Given the description of an element on the screen output the (x, y) to click on. 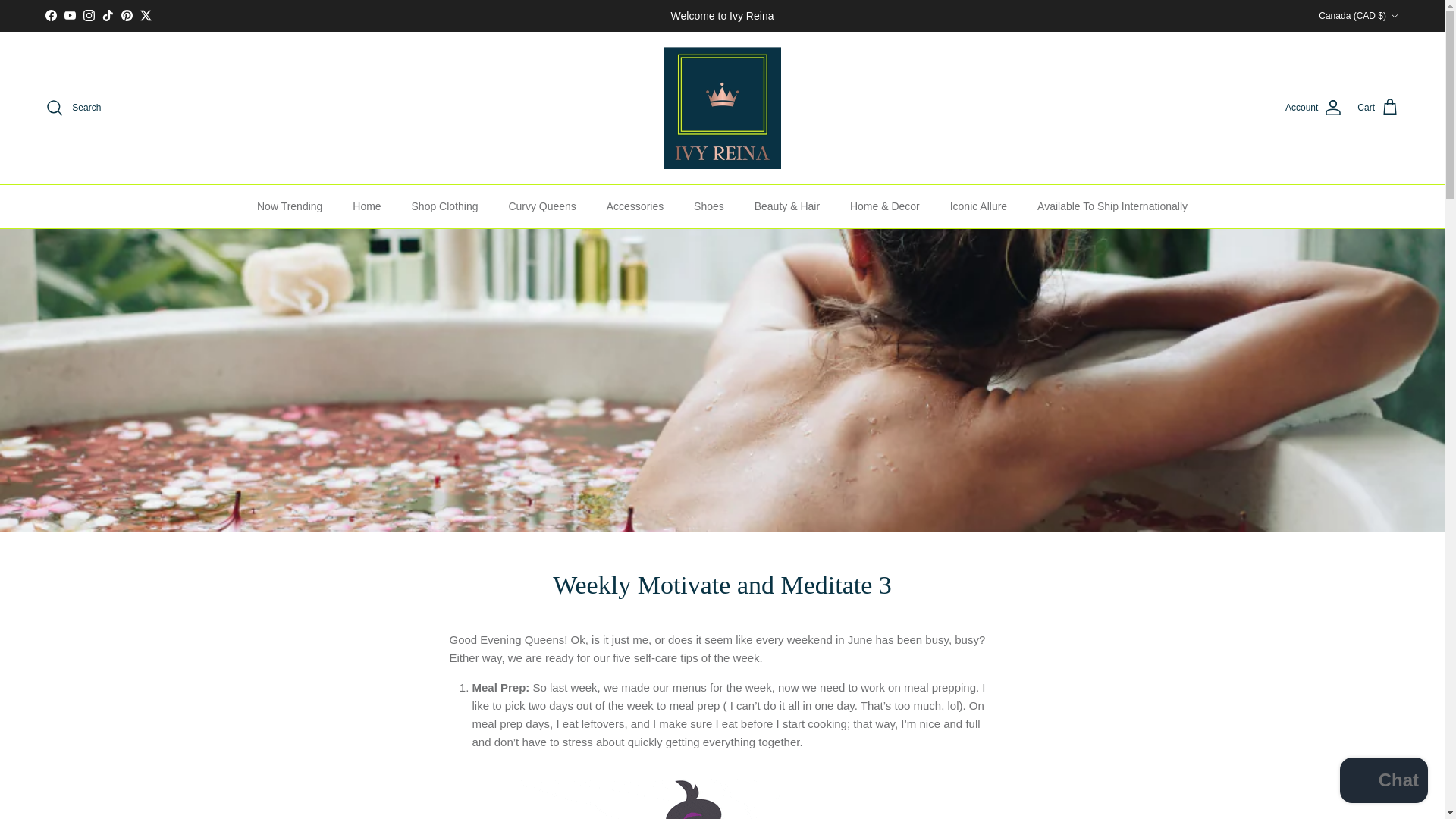
Twitter (145, 15)
Account (1313, 107)
Instagram (88, 15)
Pinterest (126, 15)
Ivy Reina on Pinterest (126, 15)
YouTube (69, 15)
Ivy Reina on YouTube (69, 15)
TikTok (107, 15)
Cart (1377, 107)
Ivy Reina (721, 107)
